Given the description of an element on the screen output the (x, y) to click on. 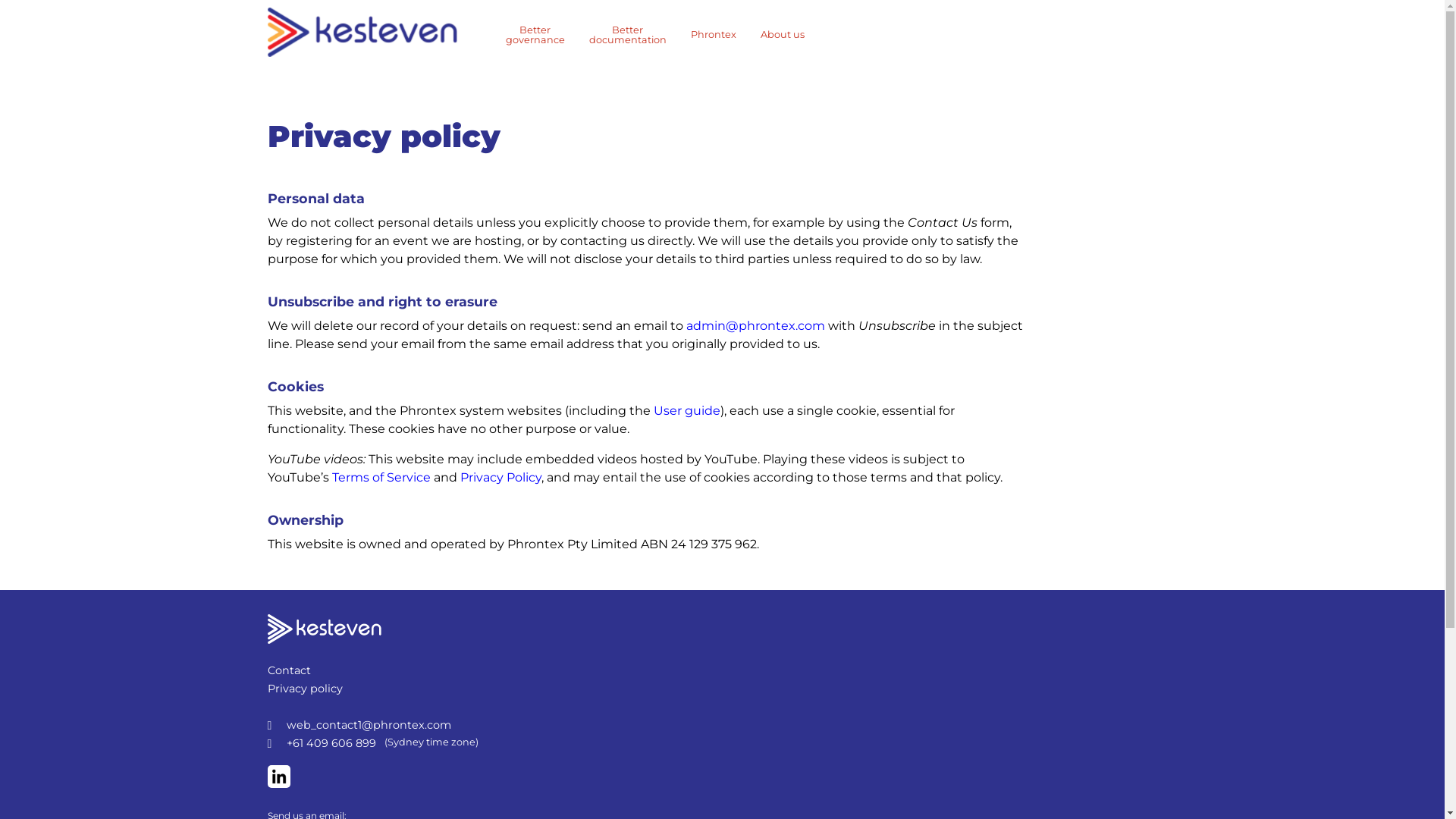
998 606 904 16+ Element type: text (331, 742)
Phrontex Element type: text (712, 35)
User guide Element type: text (686, 410)
Privacy Policy Element type: text (499, 477)
moc.xetnorhp@1tcatnoc_bew Element type: text (368, 724)
Contact Element type: text (288, 670)
About us Element type: text (781, 35)
Terms of Service Element type: text (381, 477)
Better
documentation Element type: text (626, 35)
Better
governance Element type: text (534, 35)
Privacy policy Element type: text (304, 688)
admin@phrontex.com Element type: text (754, 325)
